Given the description of an element on the screen output the (x, y) to click on. 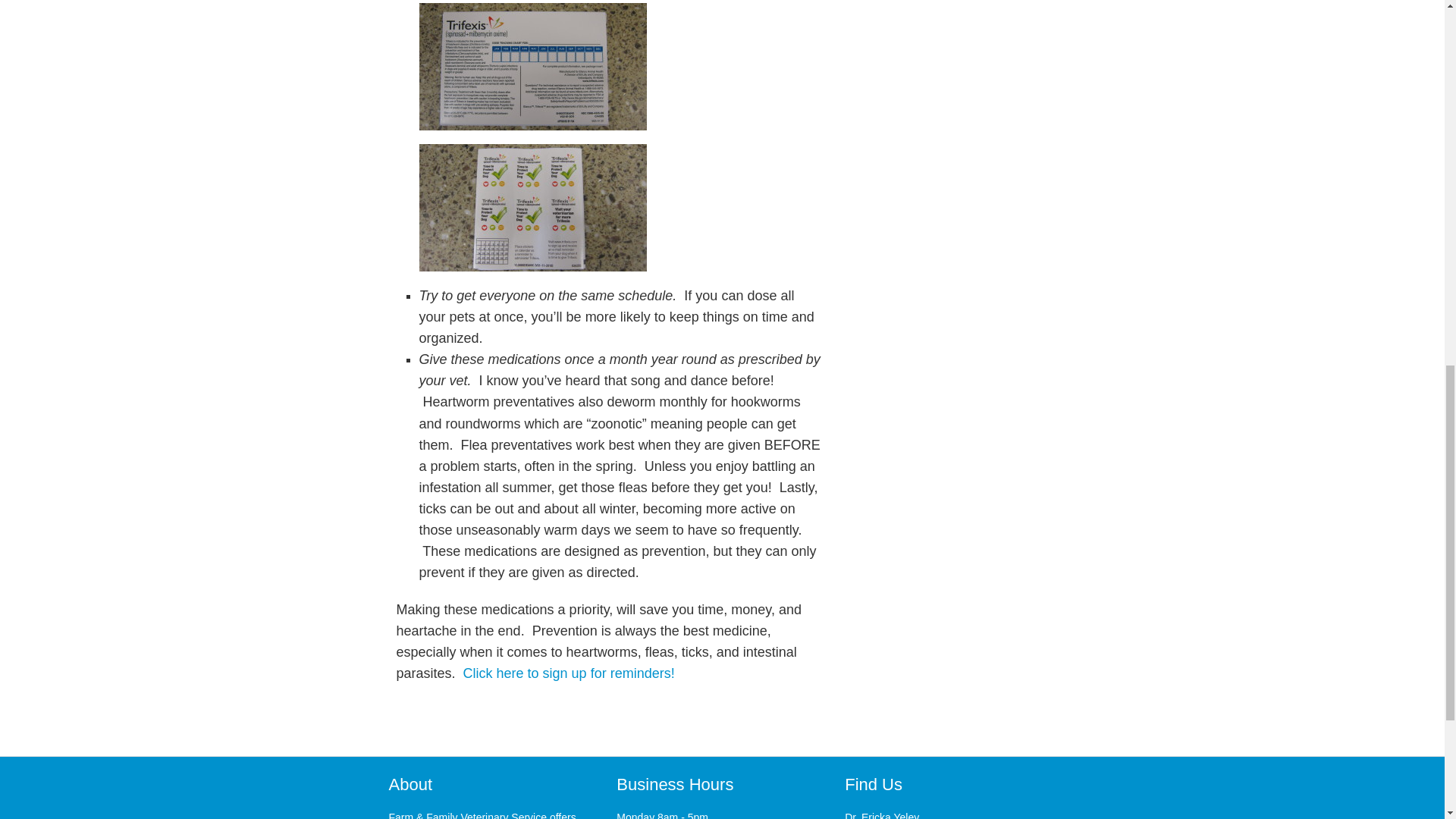
 Click here to sign up for reminders! (567, 672)
